Given the description of an element on the screen output the (x, y) to click on. 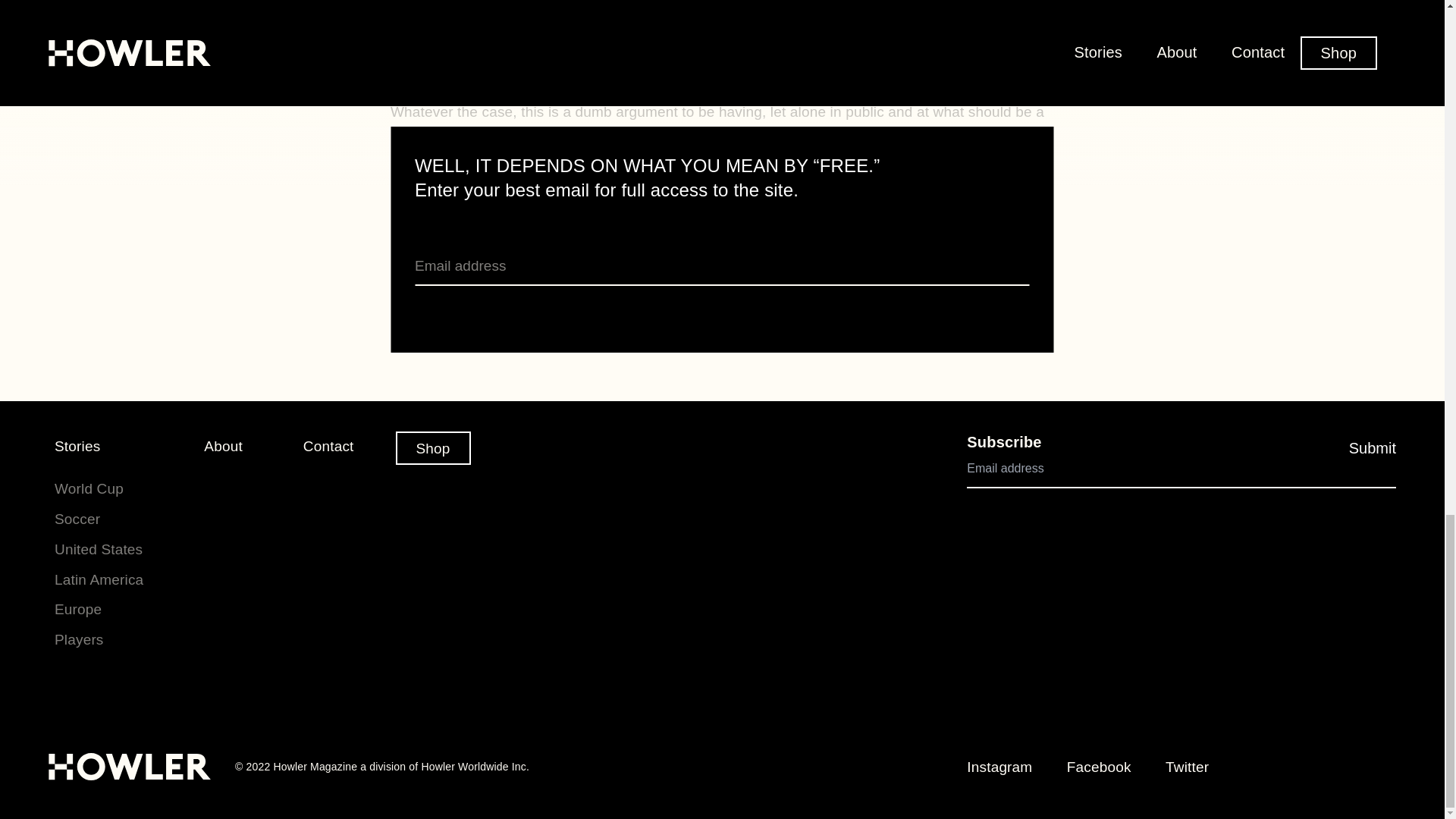
Submit (1017, 307)
World Cup (89, 488)
Stories (77, 446)
Submit (1017, 307)
Submit (1372, 448)
